Given the description of an element on the screen output the (x, y) to click on. 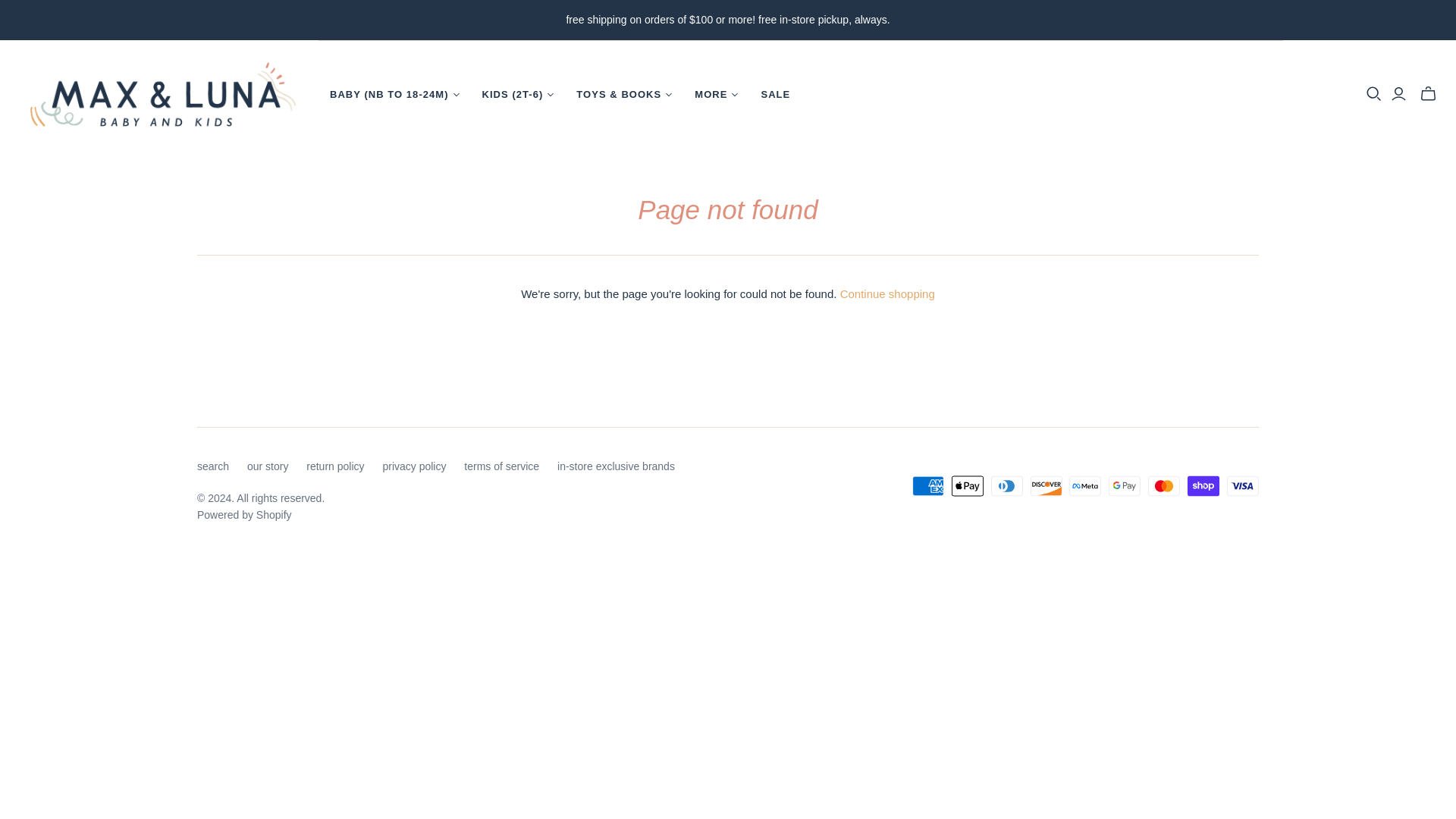
Shop Pay (1204, 485)
Visa (1243, 485)
American Express (927, 485)
Diners Club (1007, 485)
Discover (1046, 485)
Google Pay (1124, 485)
Mastercard (1163, 485)
Meta Pay (1084, 485)
Apple Pay (968, 485)
